Given the description of an element on the screen output the (x, y) to click on. 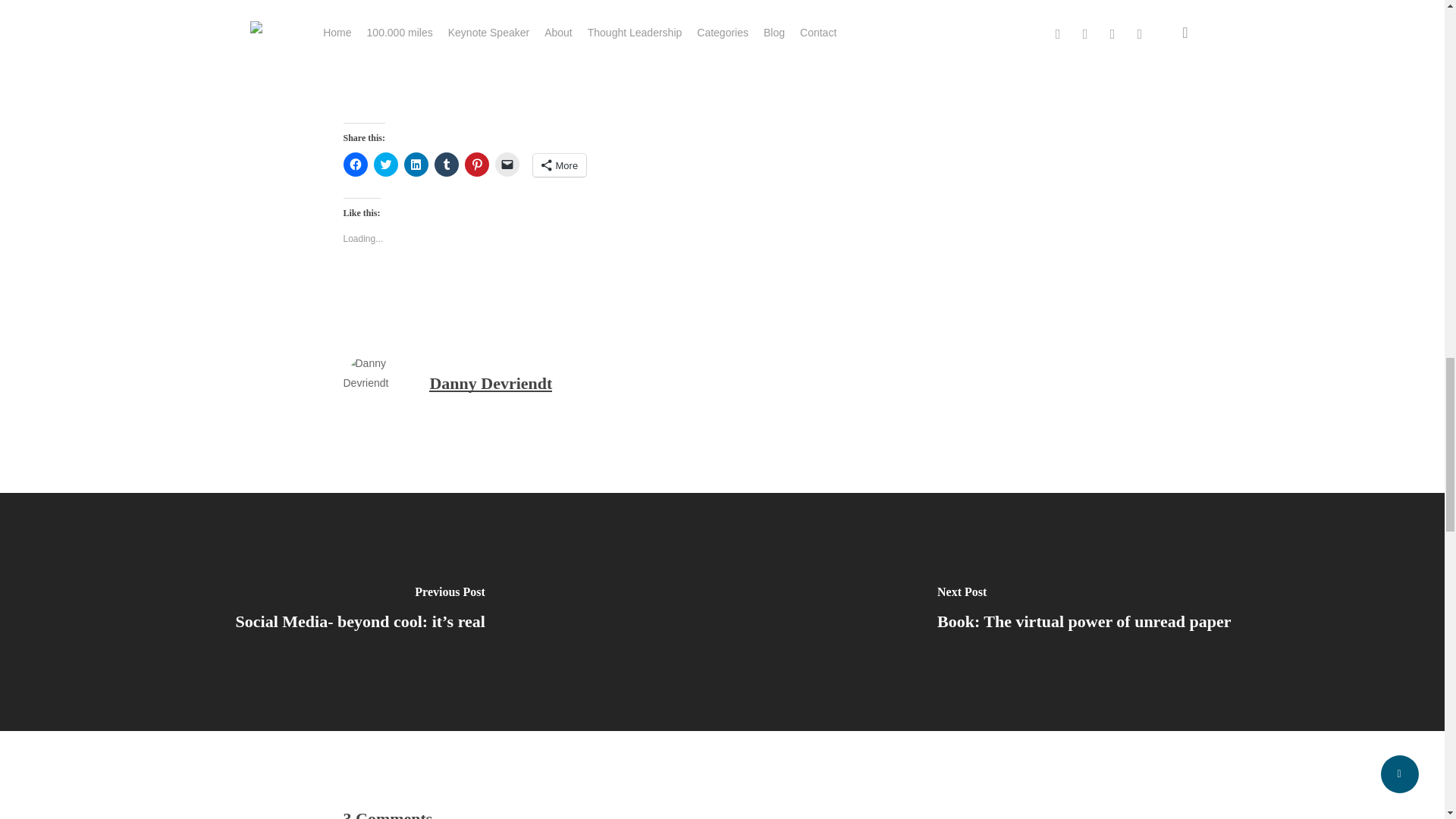
Click to share on Tumblr (445, 164)
Click to share on Facebook (354, 164)
More (559, 164)
Click to email a link to a friend (506, 164)
Click to share on LinkedIn (415, 164)
Danny Devriendt (490, 383)
Click to share on Pinterest (475, 164)
Click to share on Twitter (384, 164)
